Given the description of an element on the screen output the (x, y) to click on. 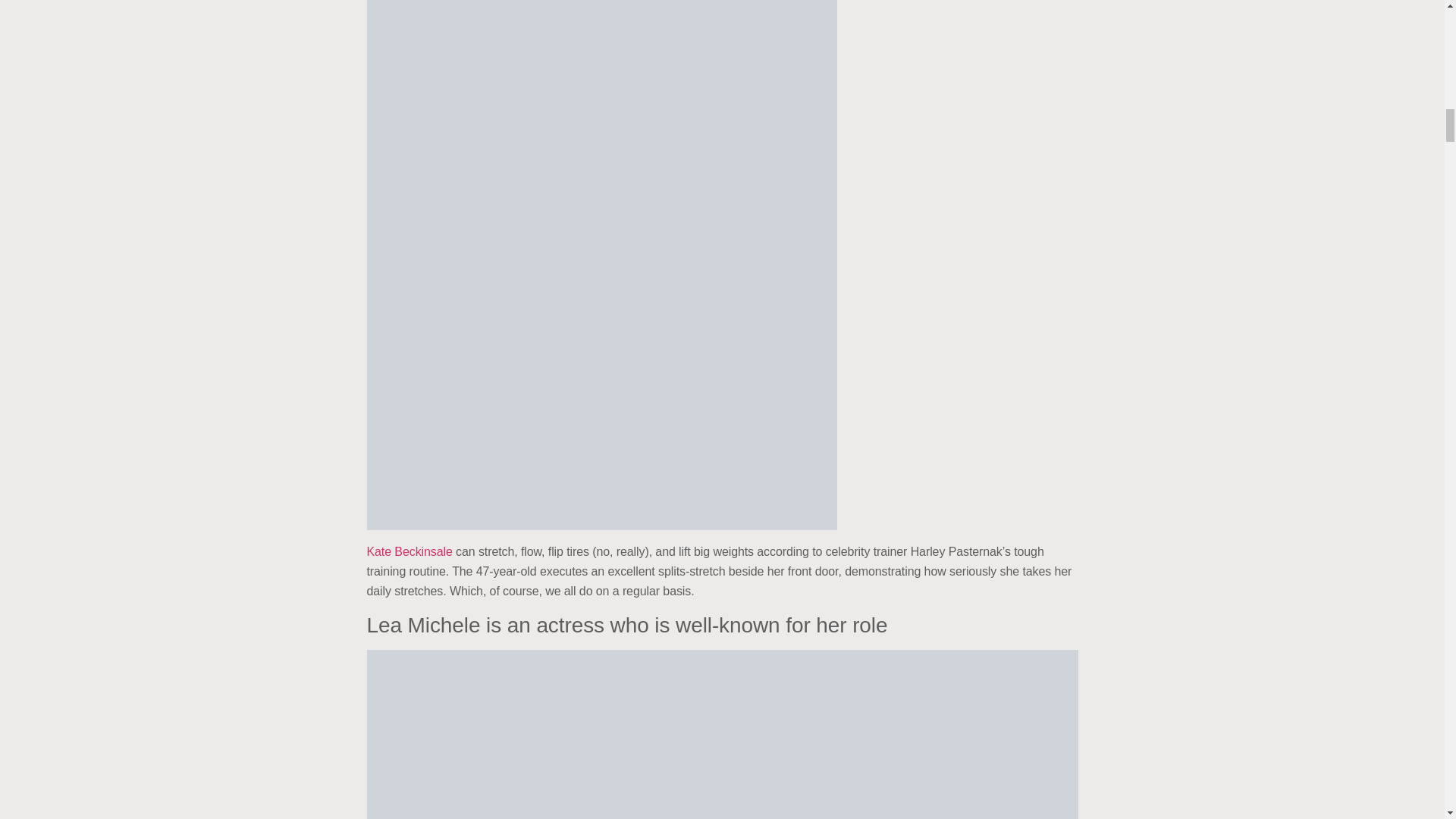
Kate Beckinsale (409, 551)
